Given the description of an element on the screen output the (x, y) to click on. 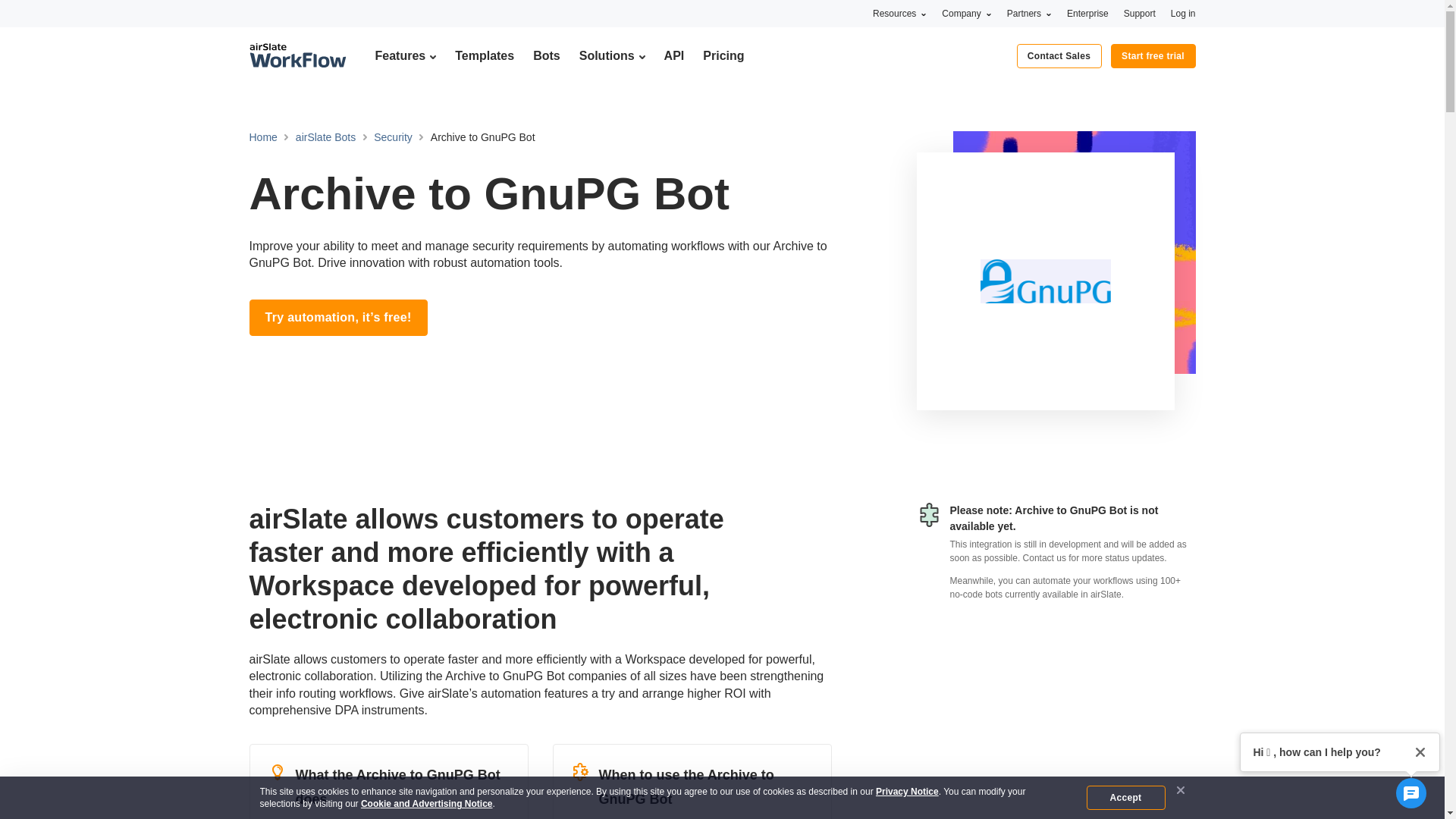
Enterprise (1087, 13)
Resources (899, 13)
Templates (483, 55)
Support (1140, 13)
Log in (1182, 13)
Company (966, 13)
Partners (1029, 13)
